Given the description of an element on the screen output the (x, y) to click on. 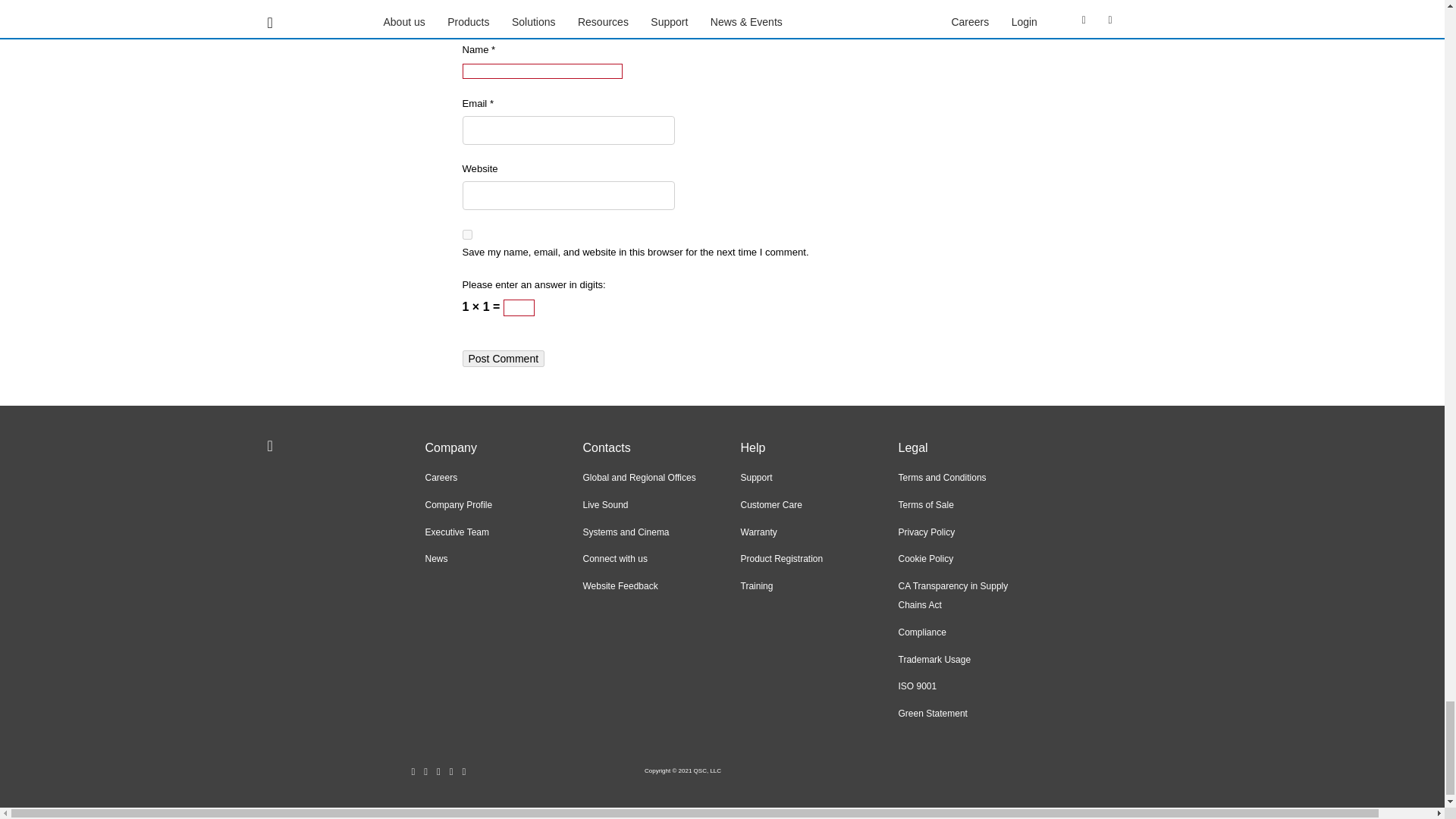
Post Comment (503, 358)
yes (467, 234)
